Given the description of an element on the screen output the (x, y) to click on. 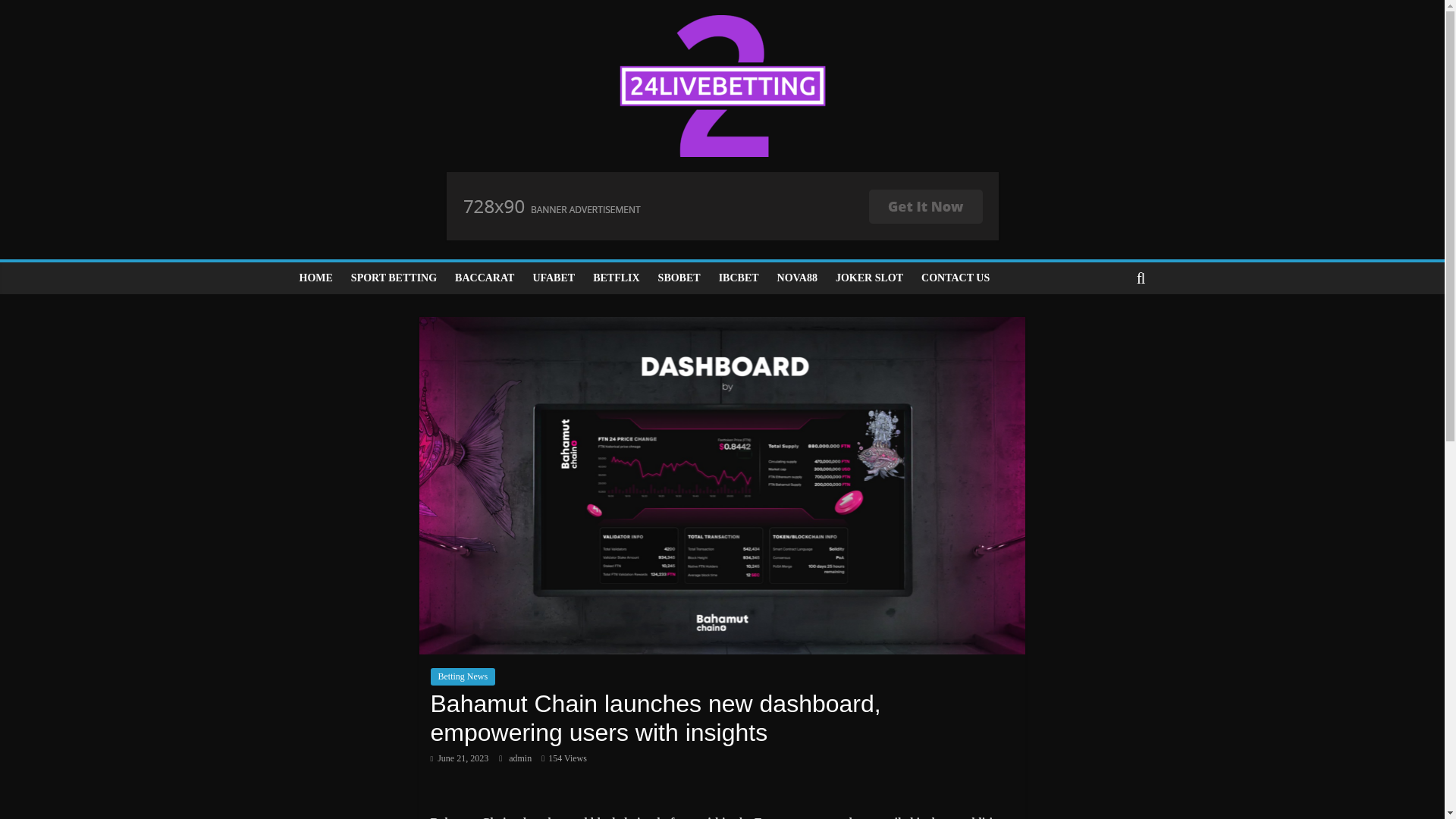
admin (521, 757)
SBOBET (679, 278)
UFABET (552, 278)
June 21, 2023 (459, 757)
admin (521, 757)
HOME (314, 278)
BACCARAT (483, 278)
CONTACT US (955, 278)
Betting News (463, 676)
2:15 am (459, 757)
